Given the description of an element on the screen output the (x, y) to click on. 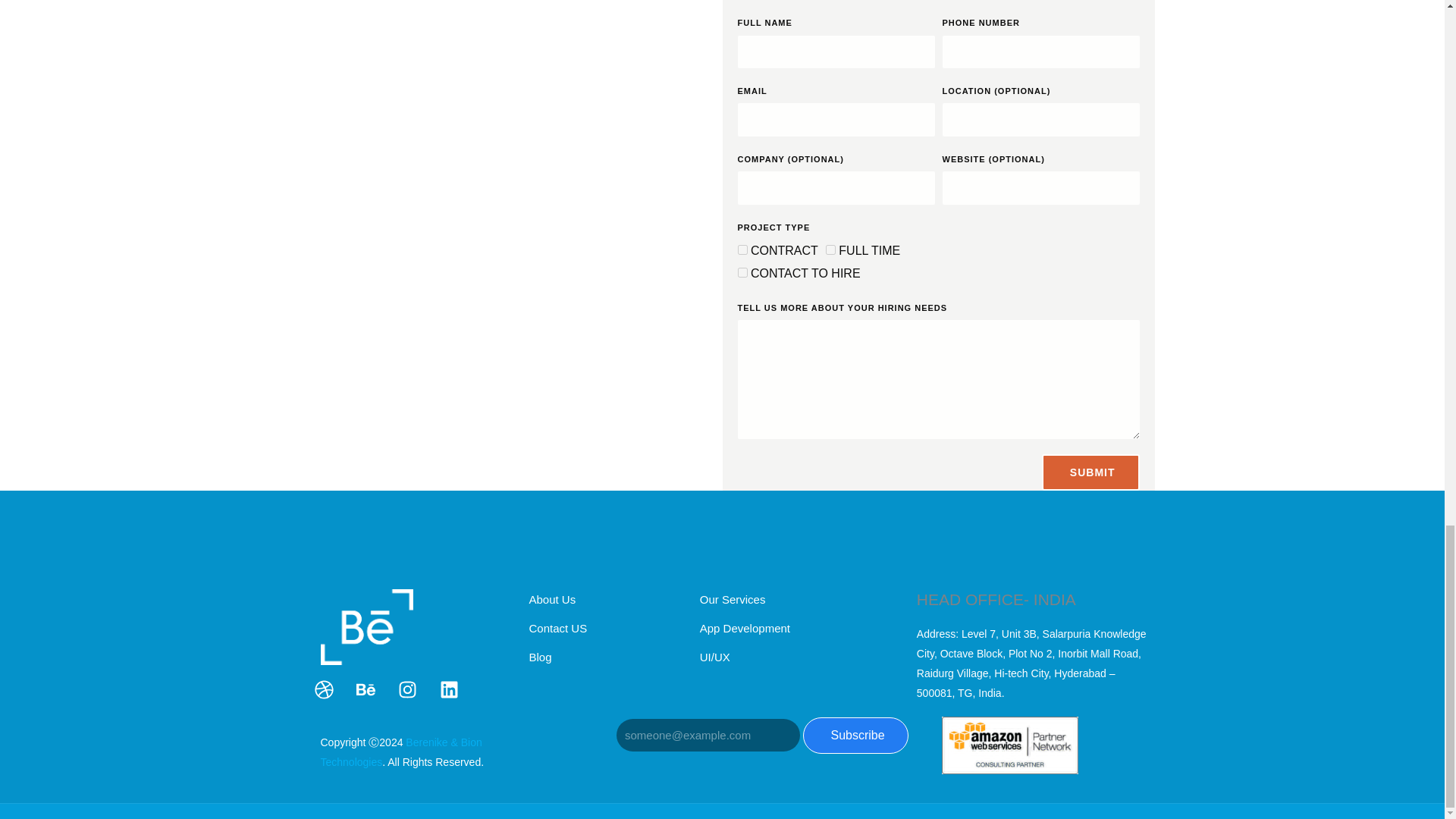
FULL TIME (830, 249)
CONTRACT (741, 249)
CONTACT TO HIRE (741, 272)
